Given the description of an element on the screen output the (x, y) to click on. 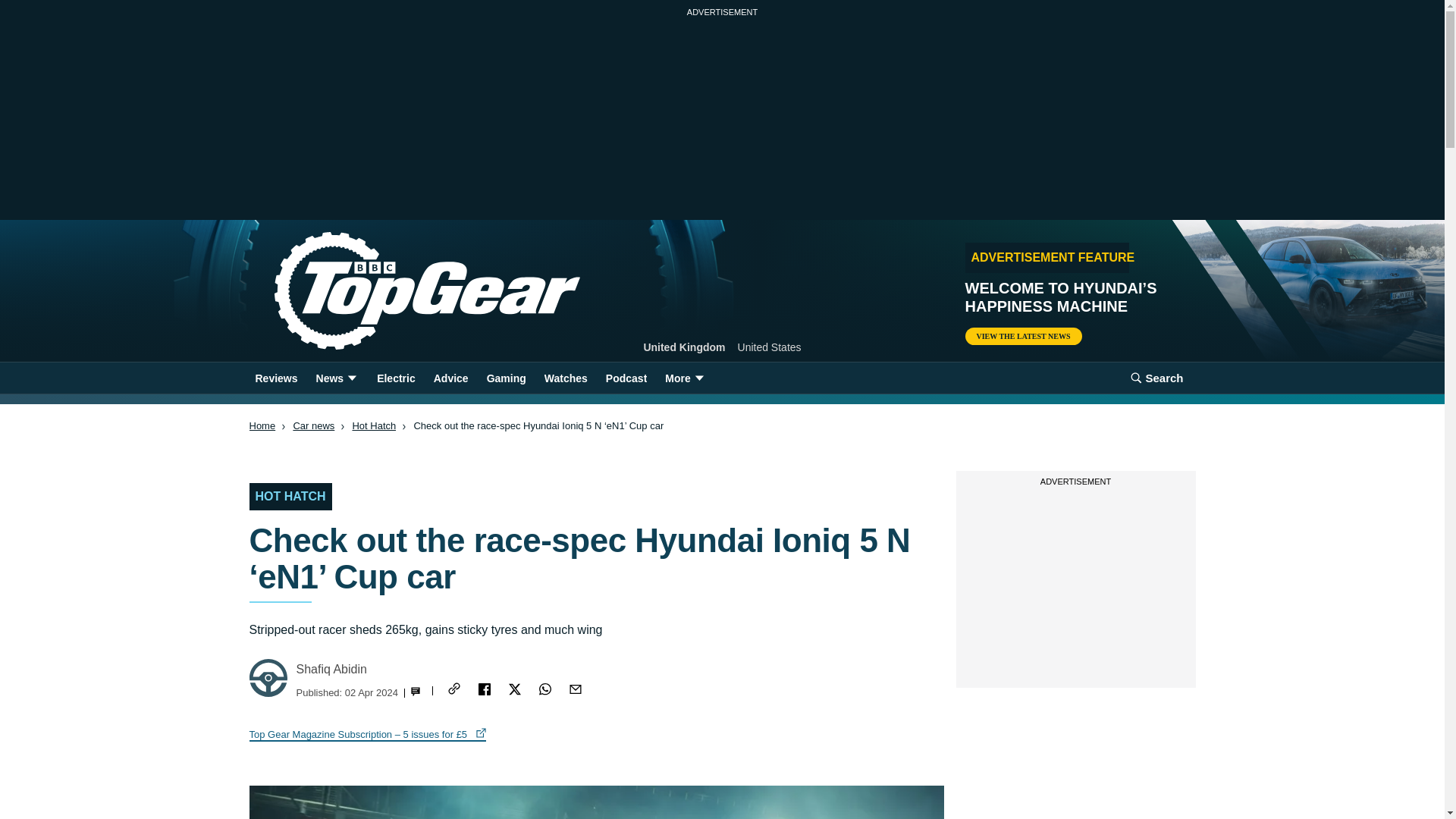
Shafiq Abidin (330, 669)
Home (261, 425)
Search (1156, 377)
HOT HATCH (289, 496)
Hot Hatch (374, 425)
United Kingdom (684, 347)
Search (1156, 377)
Advice (451, 377)
More (685, 377)
United States (770, 347)
Car news (313, 425)
News (337, 377)
3rd party ad content (1074, 586)
Podcast (625, 377)
Reviews (275, 377)
